Given the description of an element on the screen output the (x, y) to click on. 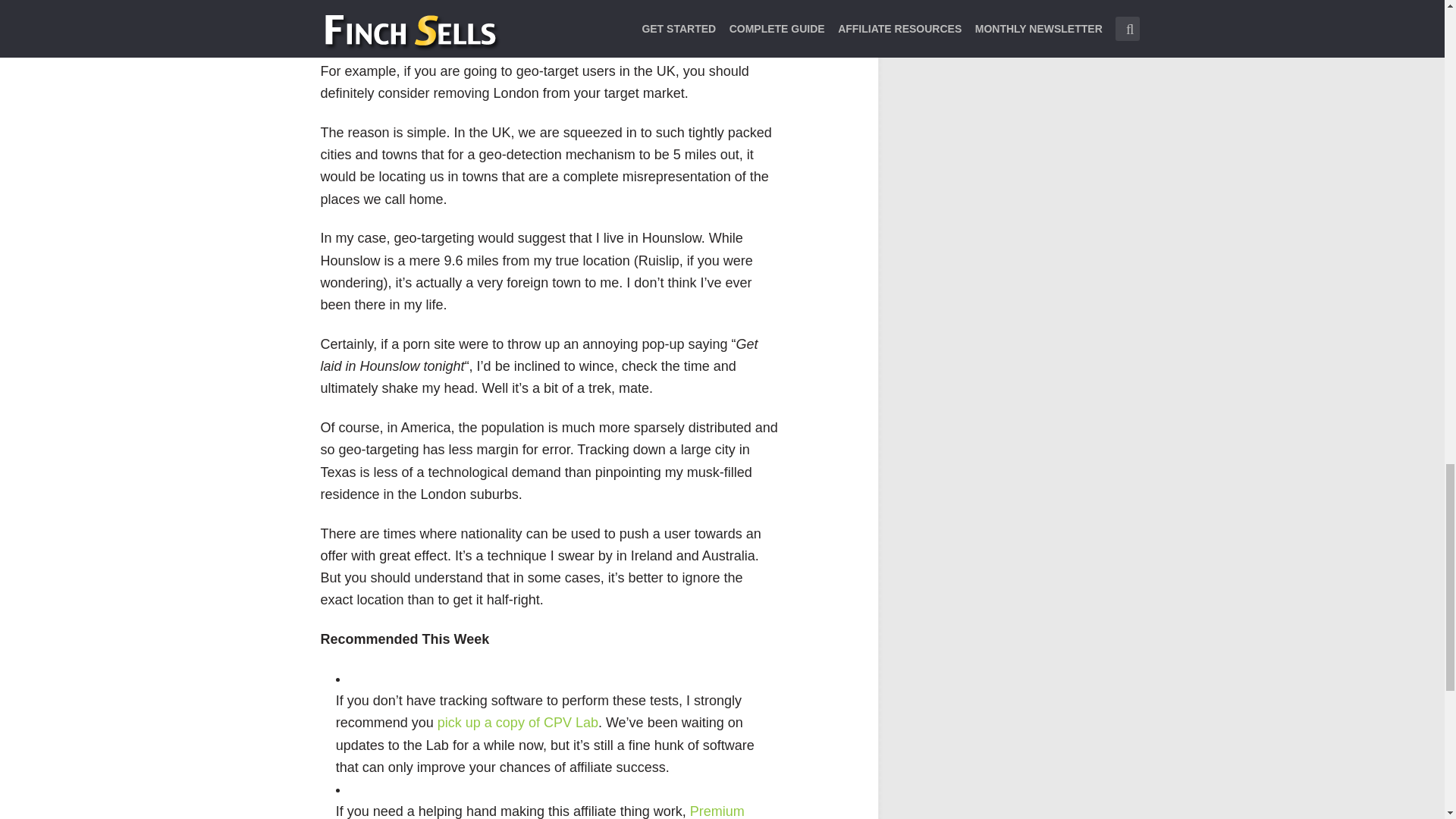
pick up a copy of CPV Lab (518, 722)
Premium Posts Volume 2 (540, 811)
